Given the description of an element on the screen output the (x, y) to click on. 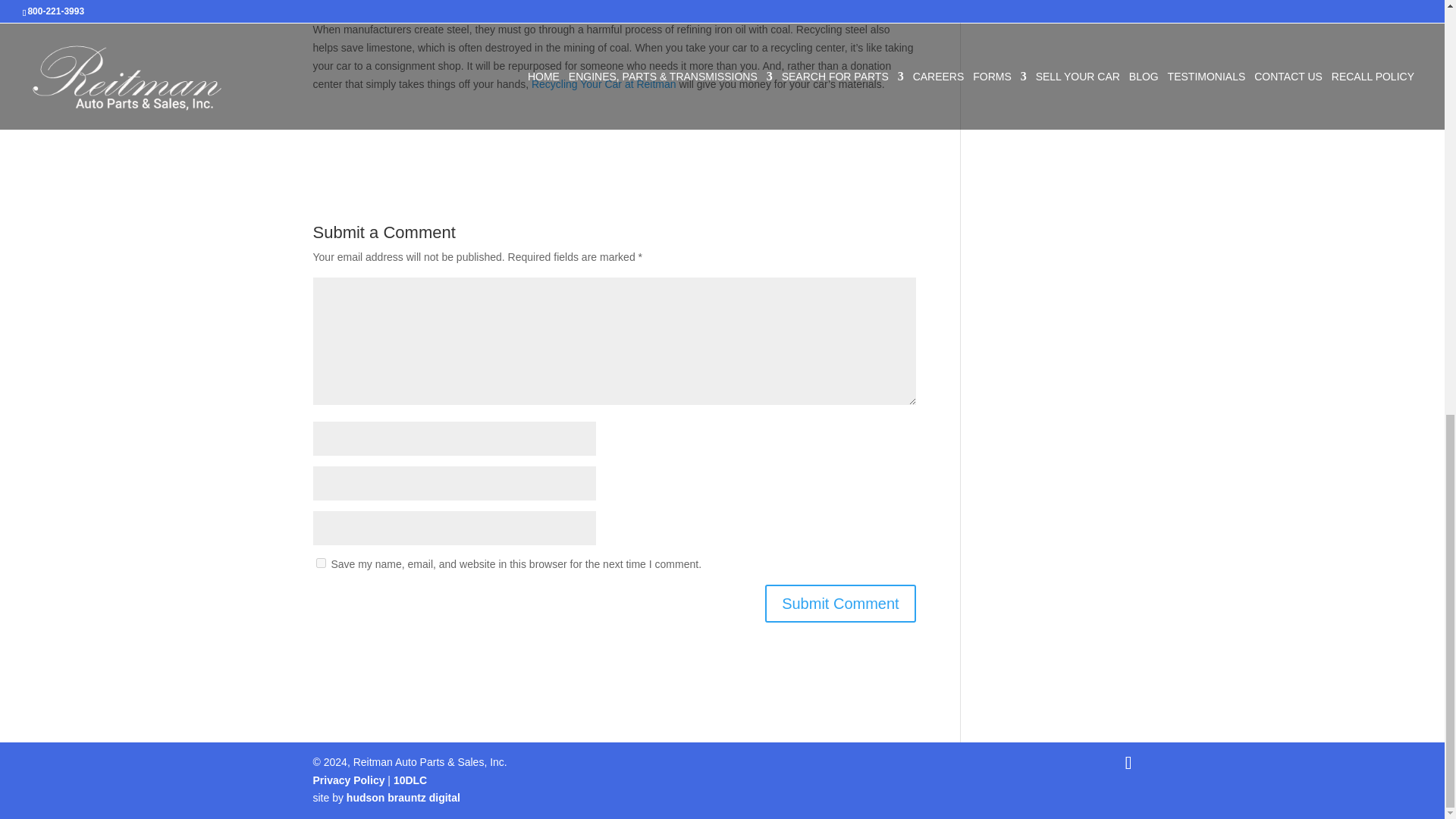
yes (319, 562)
Submit Comment (840, 603)
